Given the description of an element on the screen output the (x, y) to click on. 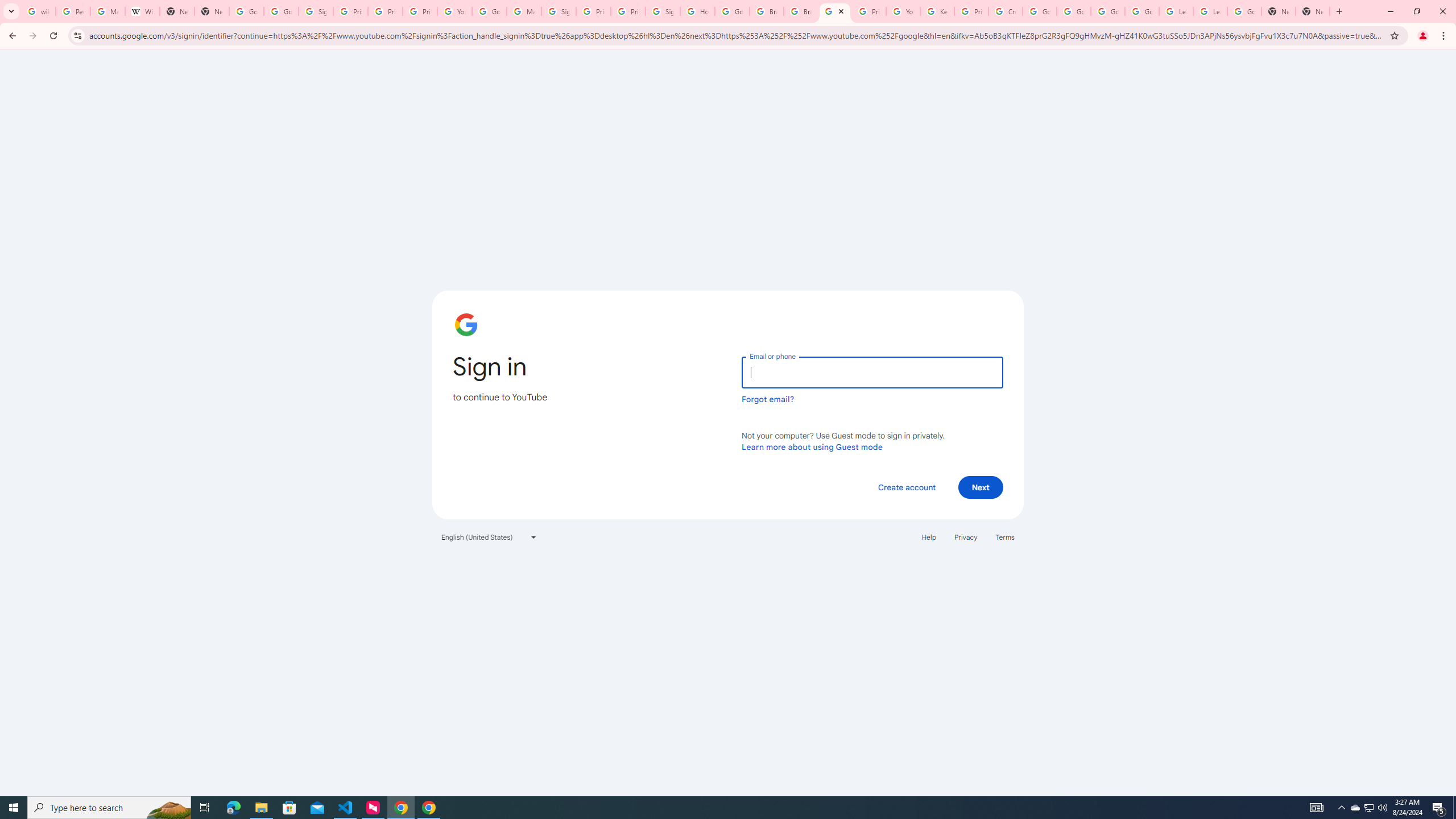
YouTube (834, 11)
Sign in - Google Accounts (315, 11)
Google Account Help (1141, 11)
Sign in - Google Accounts (662, 11)
Wikipedia:Edit requests - Wikipedia (141, 11)
New Tab (211, 11)
Google Drive: Sign-in (281, 11)
Google Account Help (1039, 11)
